Given the description of an element on the screen output the (x, y) to click on. 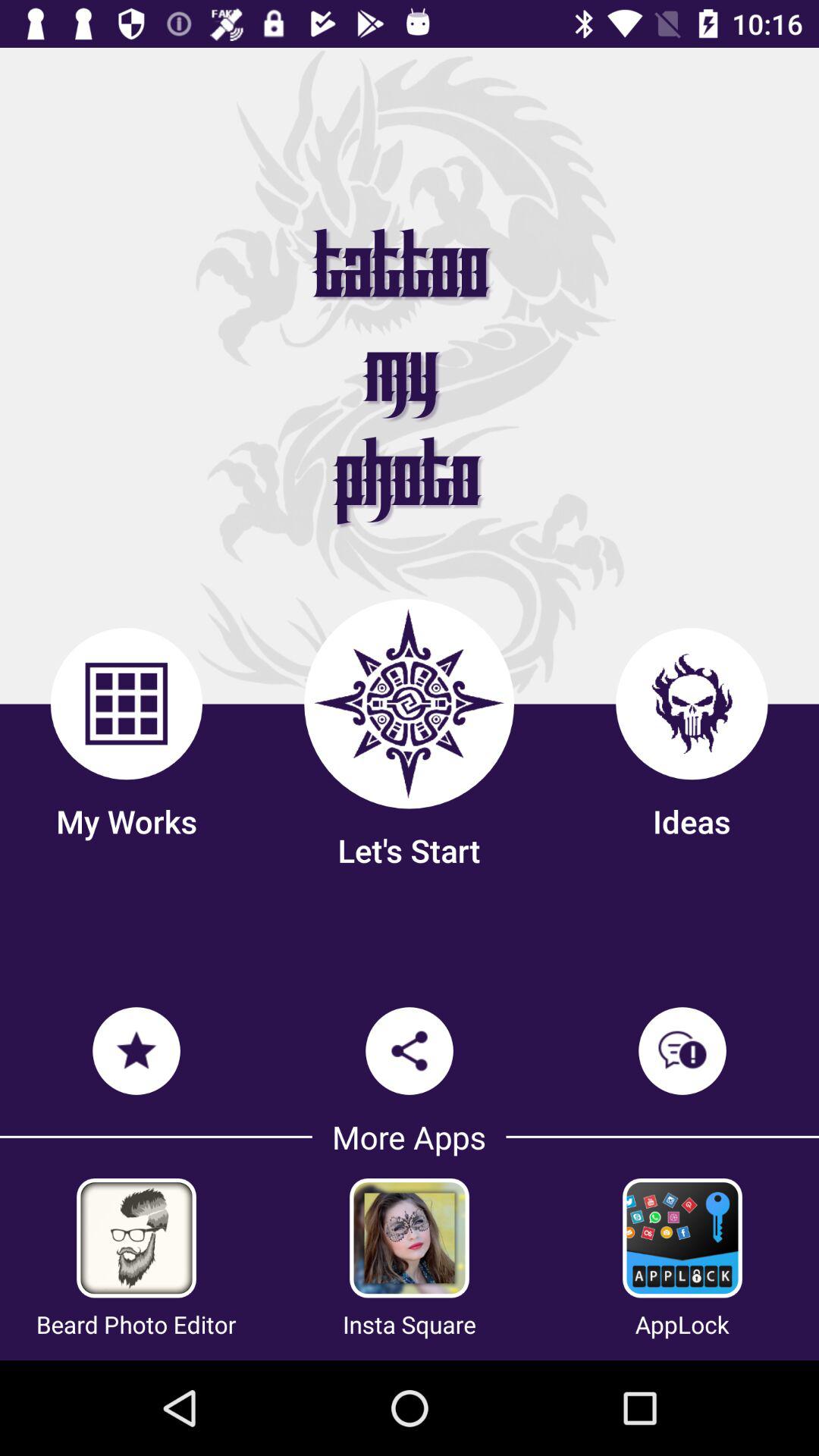
open item to the left of the insta square item (136, 1324)
